Given the description of an element on the screen output the (x, y) to click on. 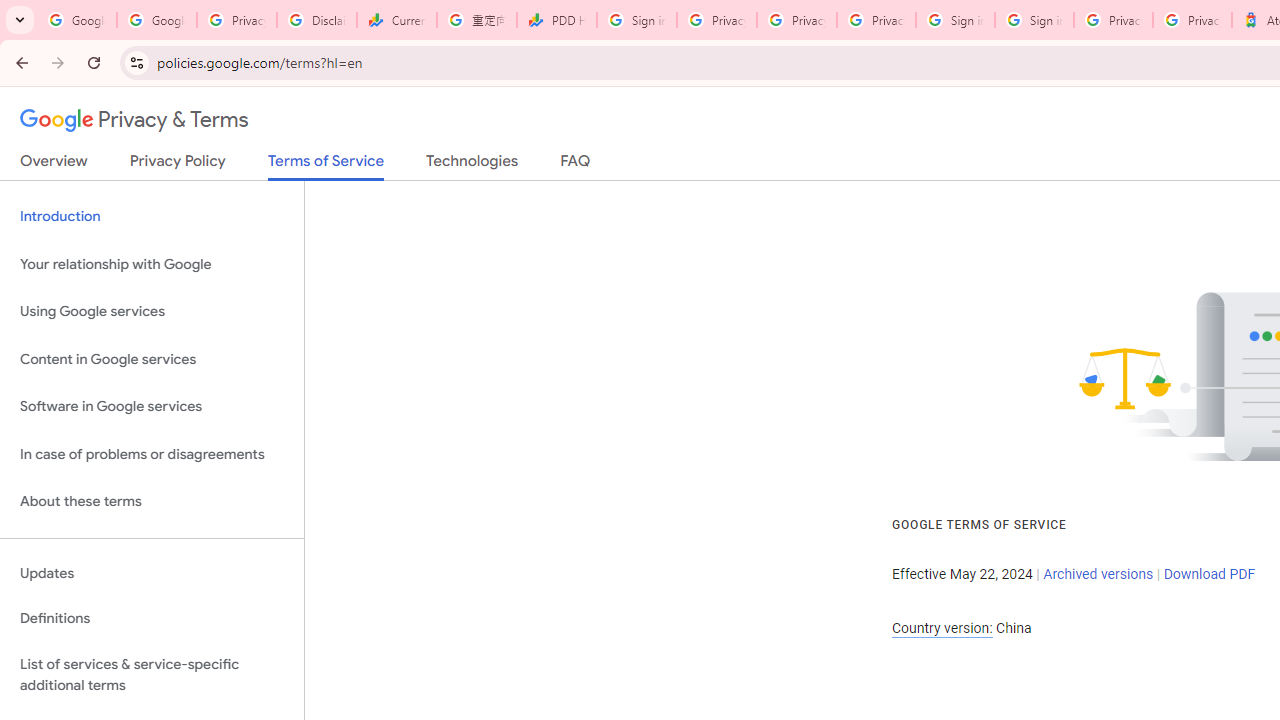
Overview (54, 165)
Google Workspace Admin Community (76, 20)
Using Google services (152, 312)
PDD Holdings Inc - ADR (PDD) Price & News - Google Finance (556, 20)
Country version: (942, 628)
Sign in - Google Accounts (636, 20)
Terms of Service (326, 166)
Privacy Policy (177, 165)
FAQ (575, 165)
Your relationship with Google (152, 263)
